Given the description of an element on the screen output the (x, y) to click on. 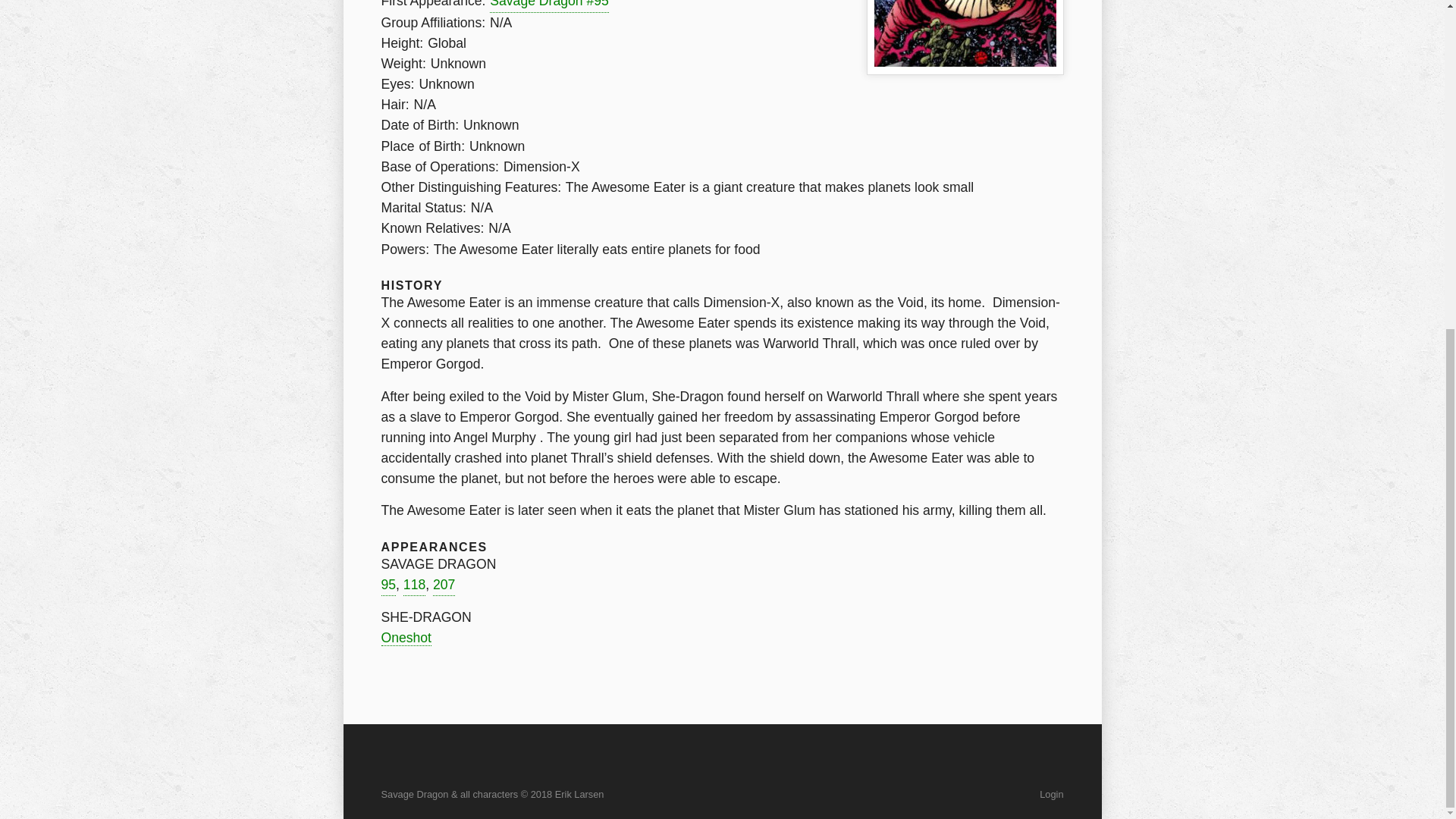
207 (443, 585)
118 (414, 585)
Oneshot (405, 637)
95 (388, 585)
